Given the description of an element on the screen output the (x, y) to click on. 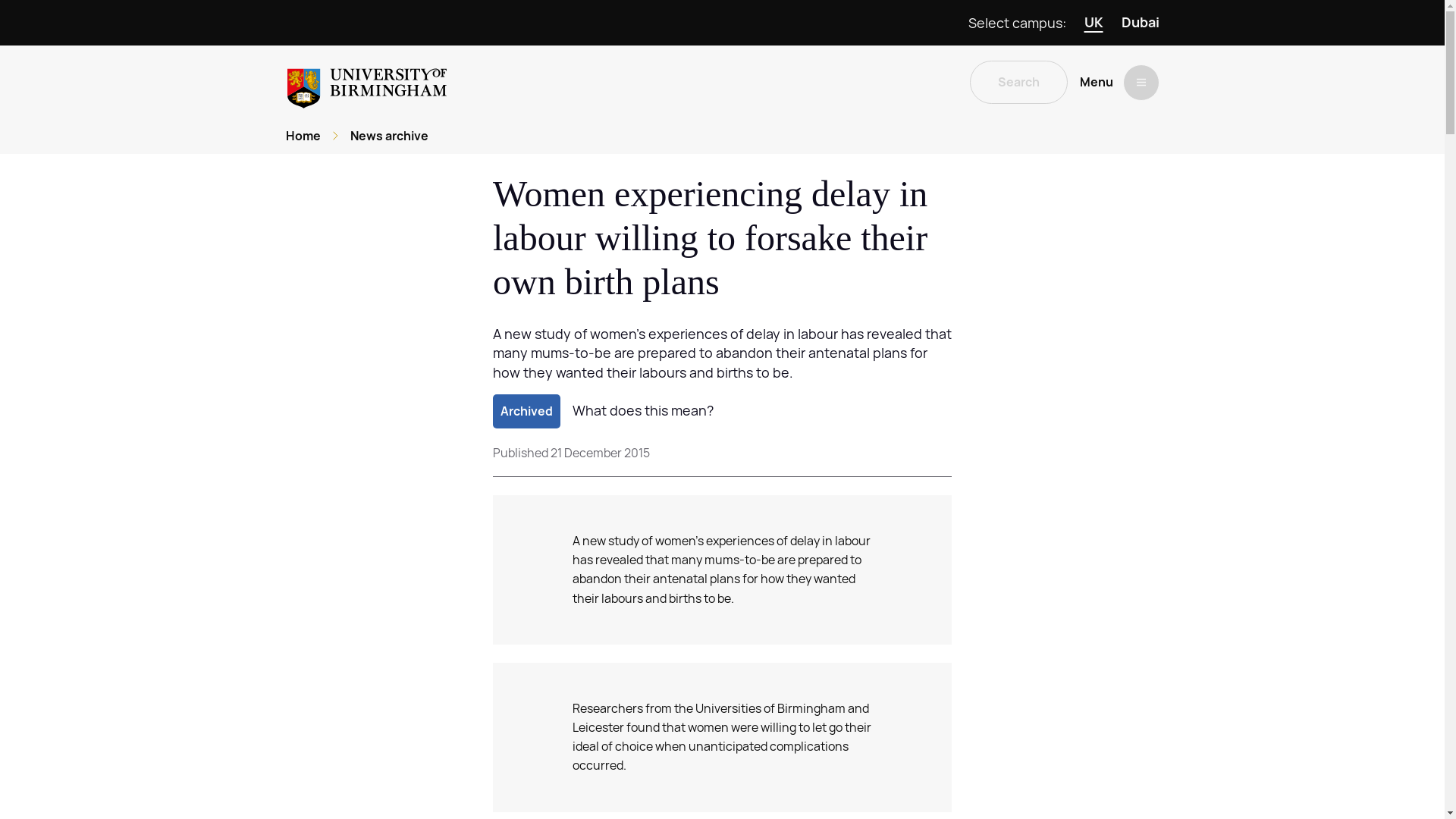
Search (1018, 81)
UK (1093, 22)
Dubai (1139, 22)
What does this mean? (642, 410)
Home (302, 136)
News archive (389, 136)
